Given the description of an element on the screen output the (x, y) to click on. 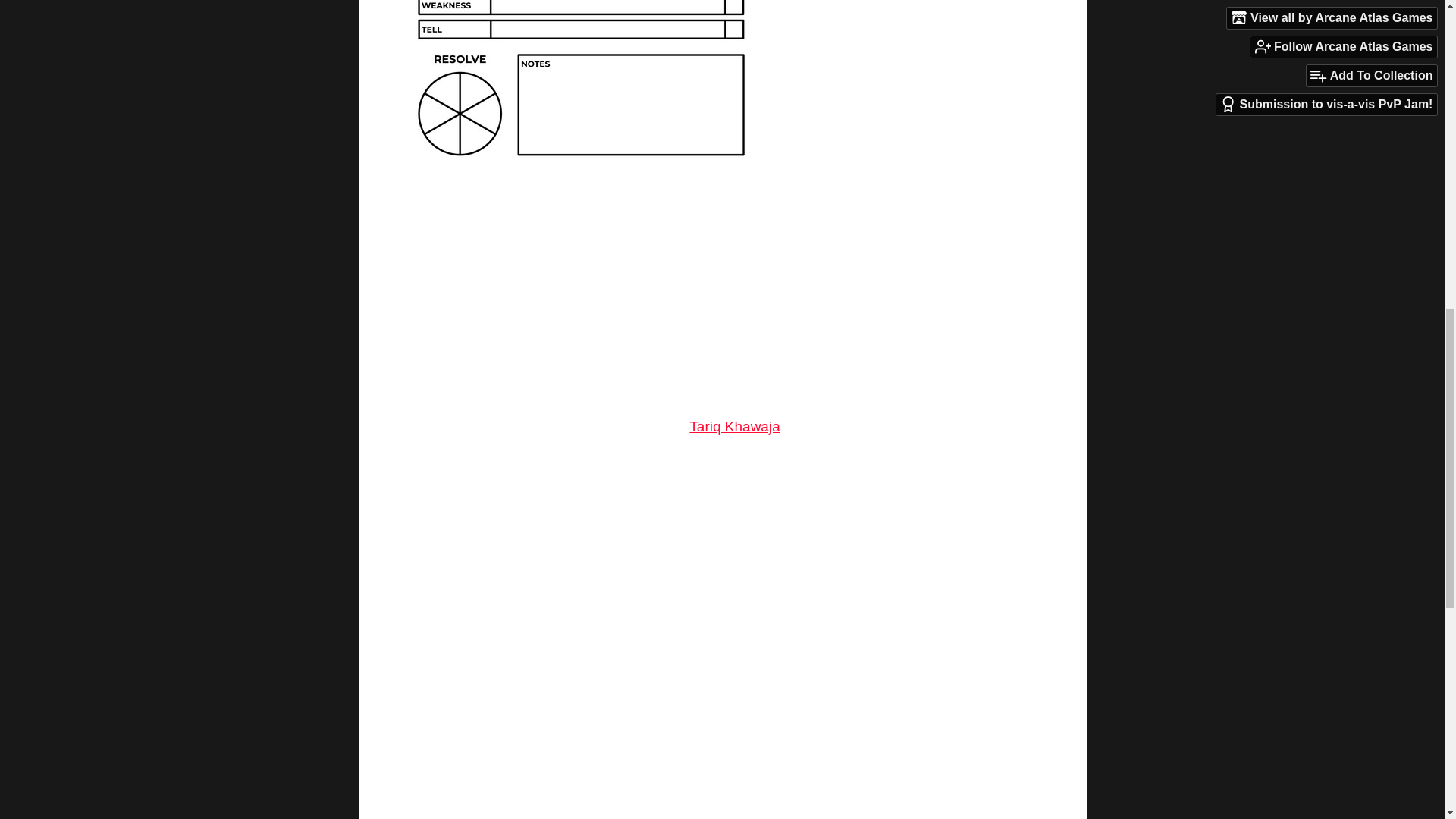
Tariq Khawaja (733, 426)
